Given the description of an element on the screen output the (x, y) to click on. 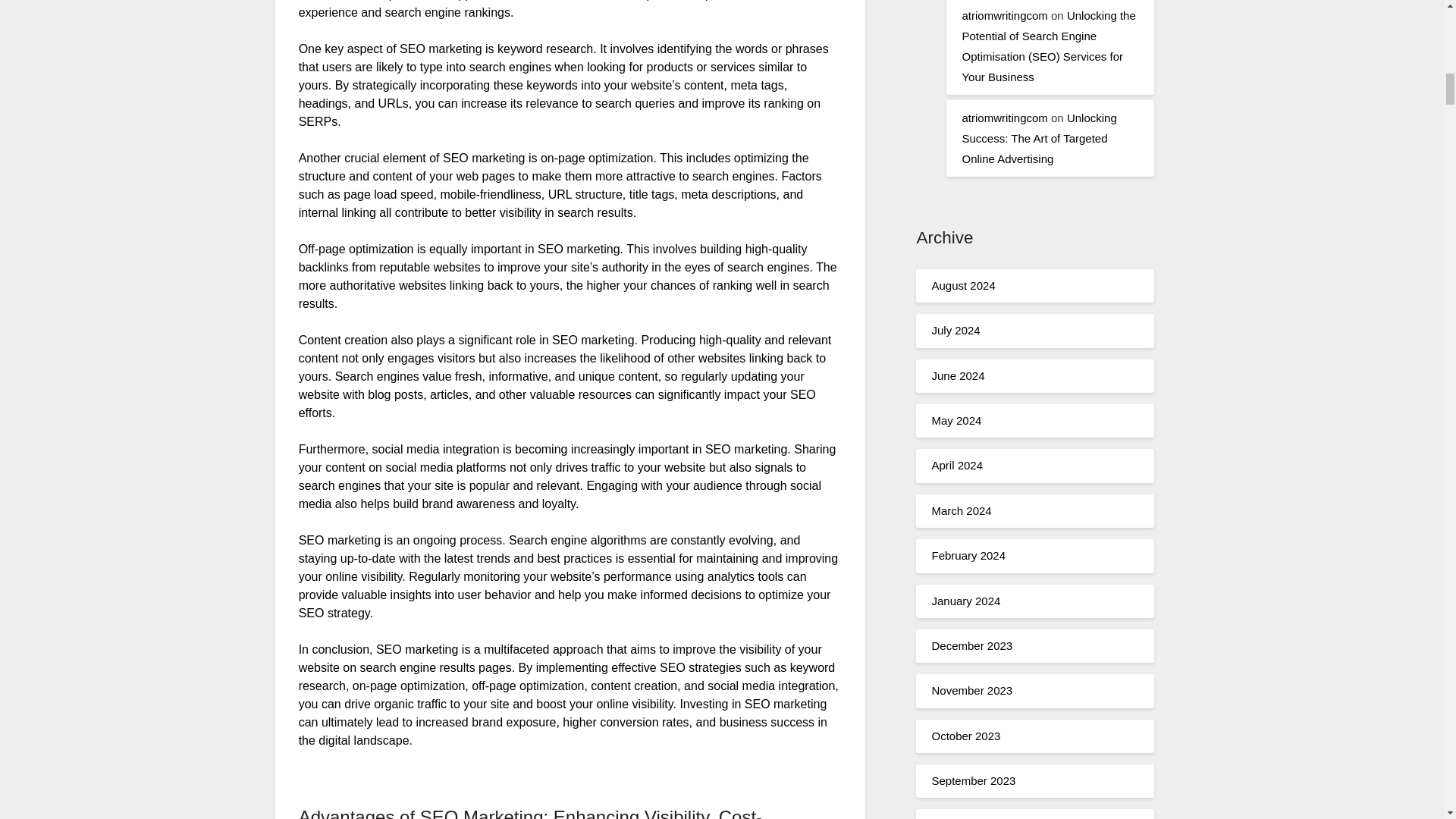
March 2024 (961, 510)
atriomwritingcom (1003, 15)
Unlocking Success: The Art of Targeted Online Advertising (1038, 138)
July 2024 (955, 329)
atriomwritingcom (1003, 117)
February 2024 (968, 554)
April 2024 (956, 464)
May 2024 (956, 420)
August 2024 (962, 285)
June 2024 (957, 375)
